Given the description of an element on the screen output the (x, y) to click on. 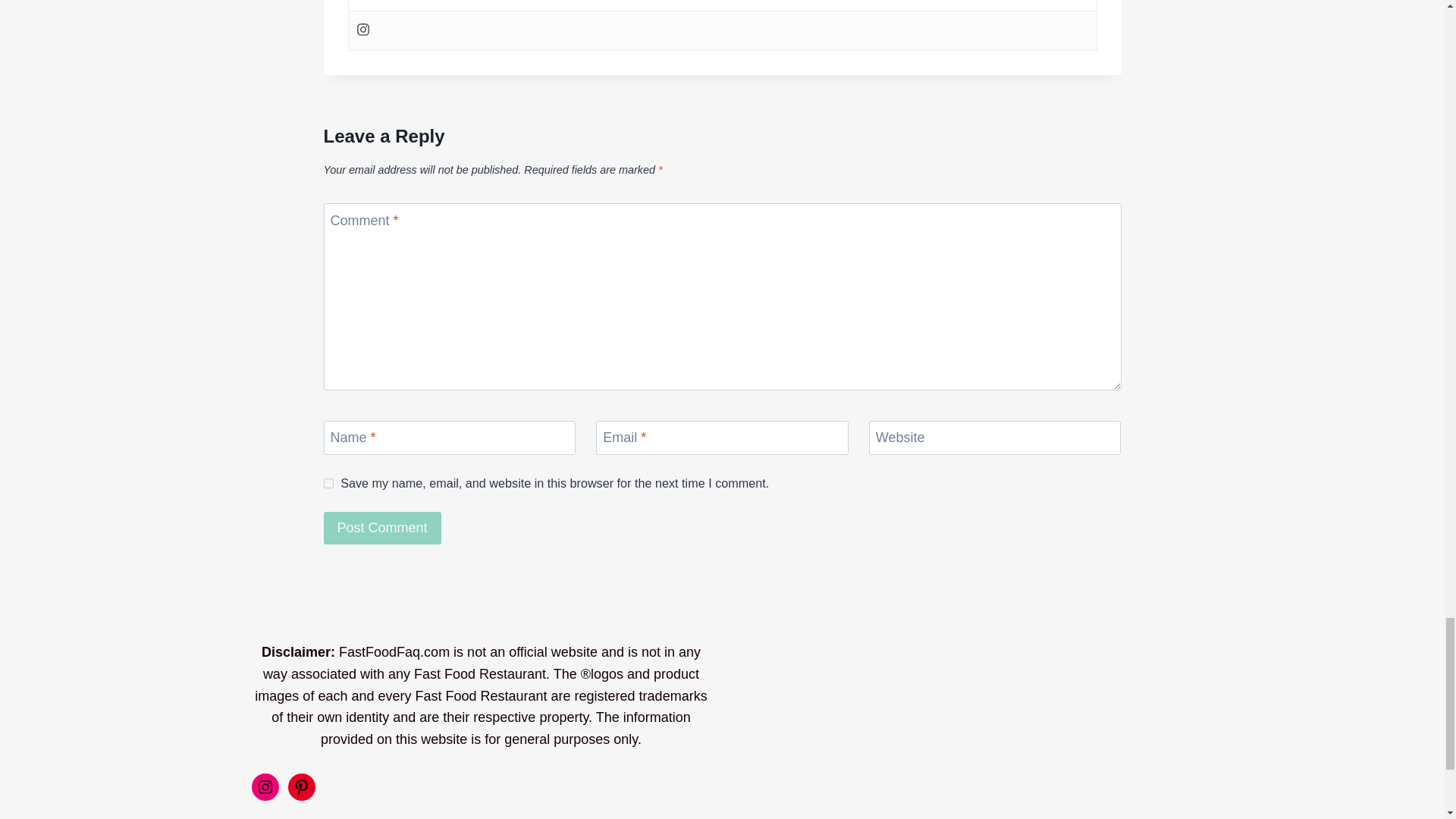
Post Comment (382, 527)
Instagram (265, 786)
Post Comment (382, 527)
Pinterest (301, 786)
yes (328, 483)
